Given the description of an element on the screen output the (x, y) to click on. 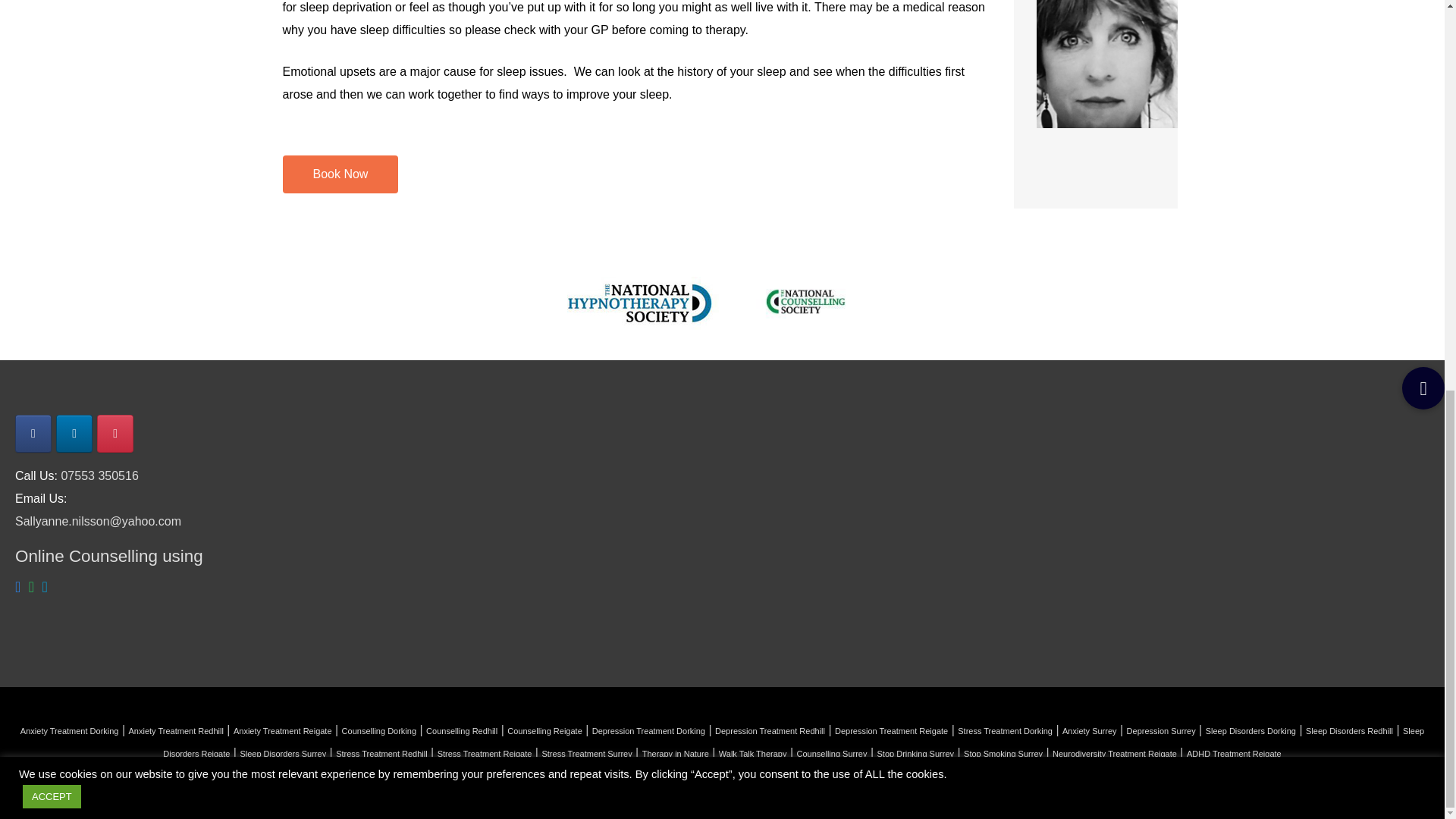
Fresh Start Counselling on Instagram (115, 433)
Fresh Start Counselling on Linkedin (74, 433)
Book Now (339, 174)
Fresh Start Counselling on Facebook (32, 433)
07553 350516 (99, 475)
